Given the description of an element on the screen output the (x, y) to click on. 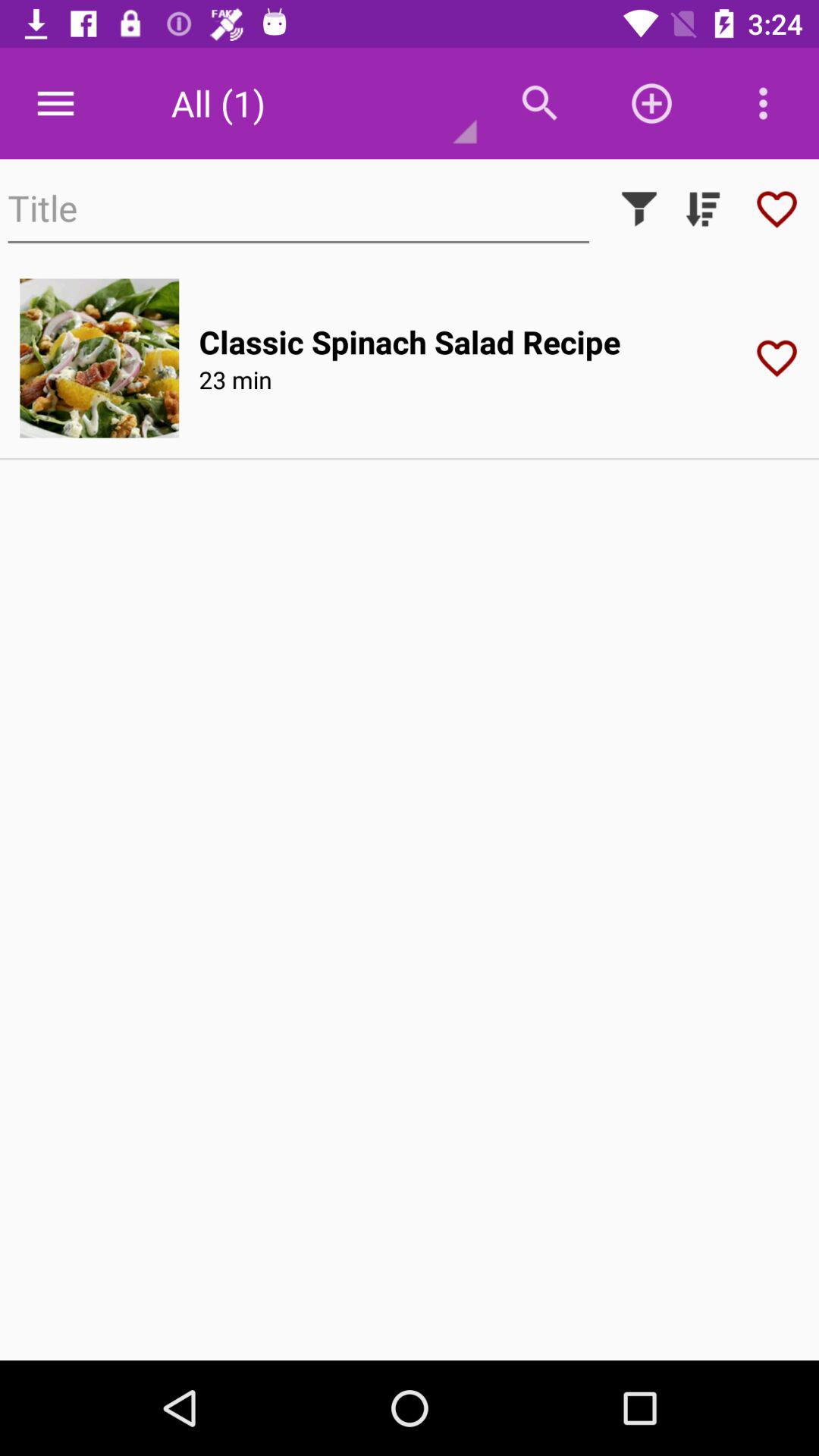
choose the item next to all (1) item (540, 103)
